Given the description of an element on the screen output the (x, y) to click on. 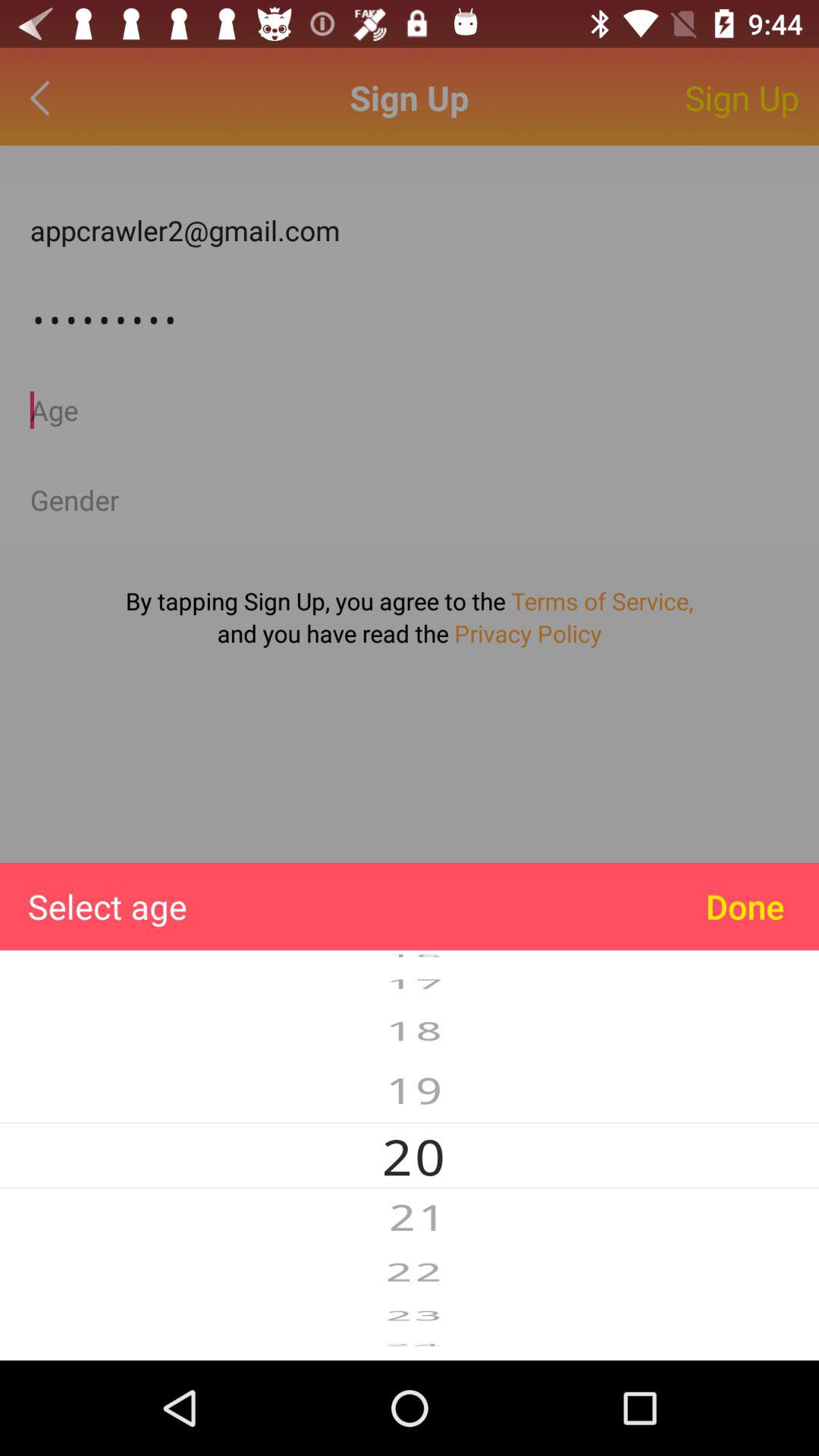
go to previous (43, 97)
